Given the description of an element on the screen output the (x, y) to click on. 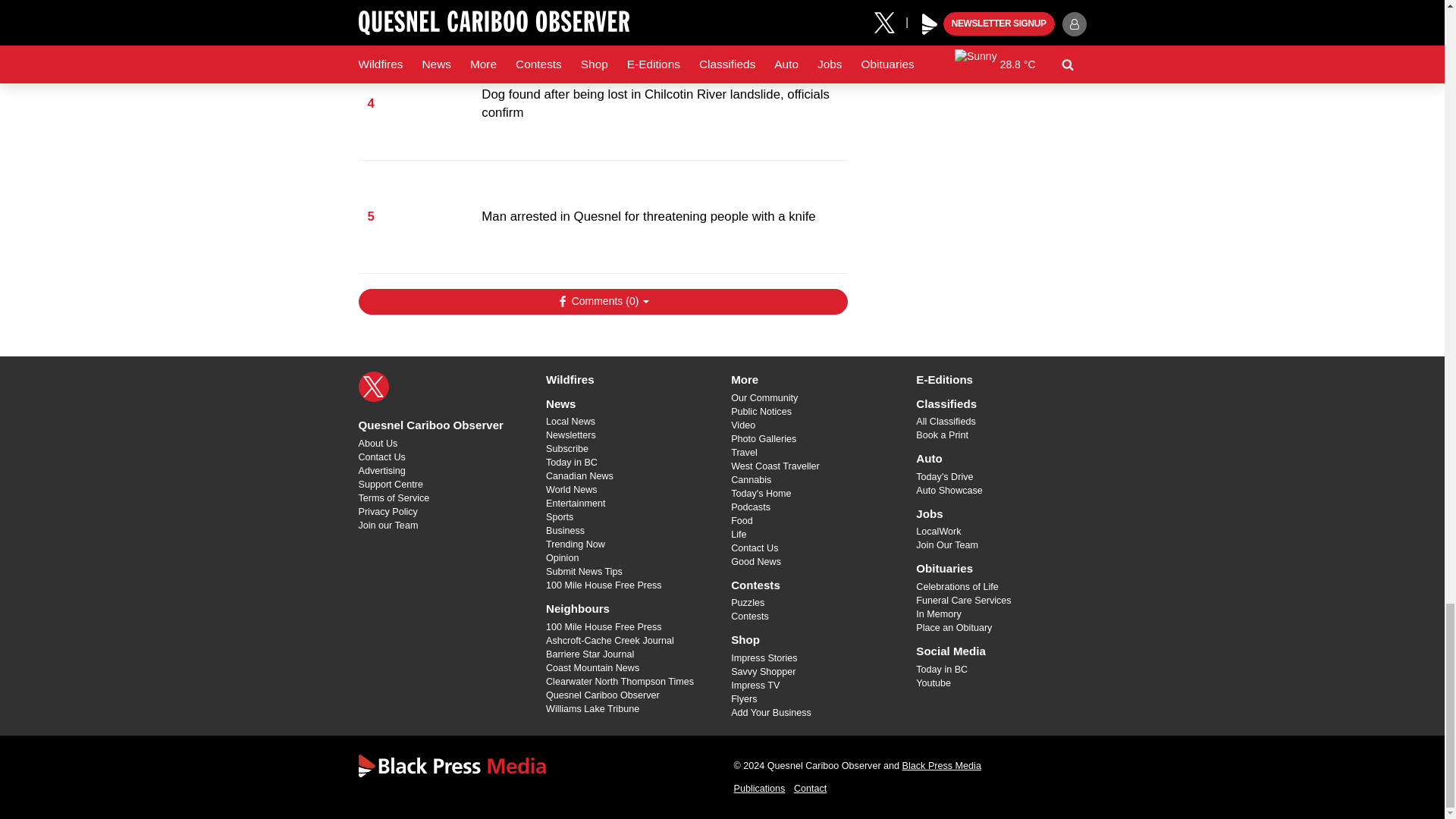
X (373, 386)
Show Comments (602, 301)
